Given the description of an element on the screen output the (x, y) to click on. 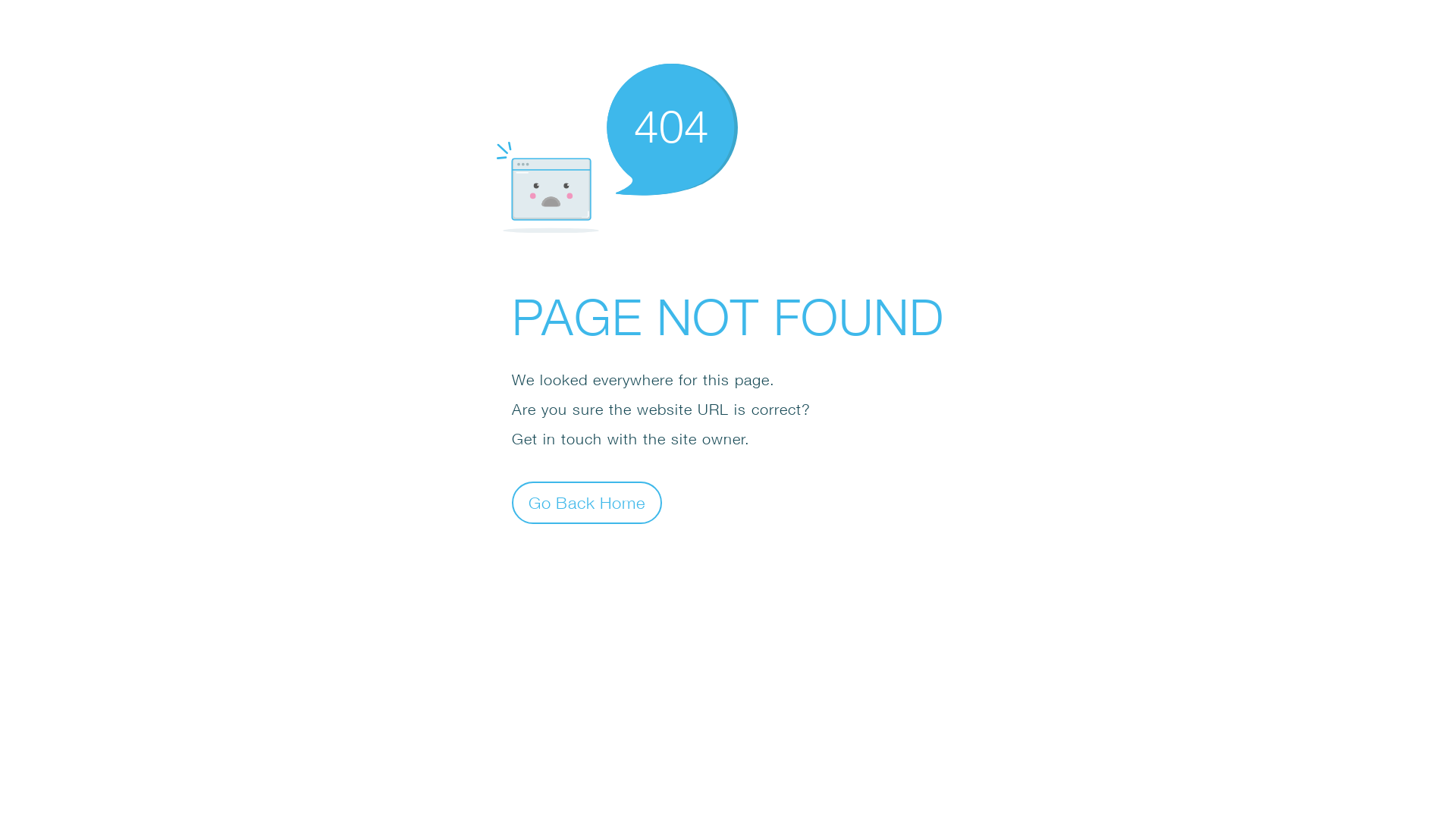
Go Back Home Element type: text (586, 502)
